Given the description of an element on the screen output the (x, y) to click on. 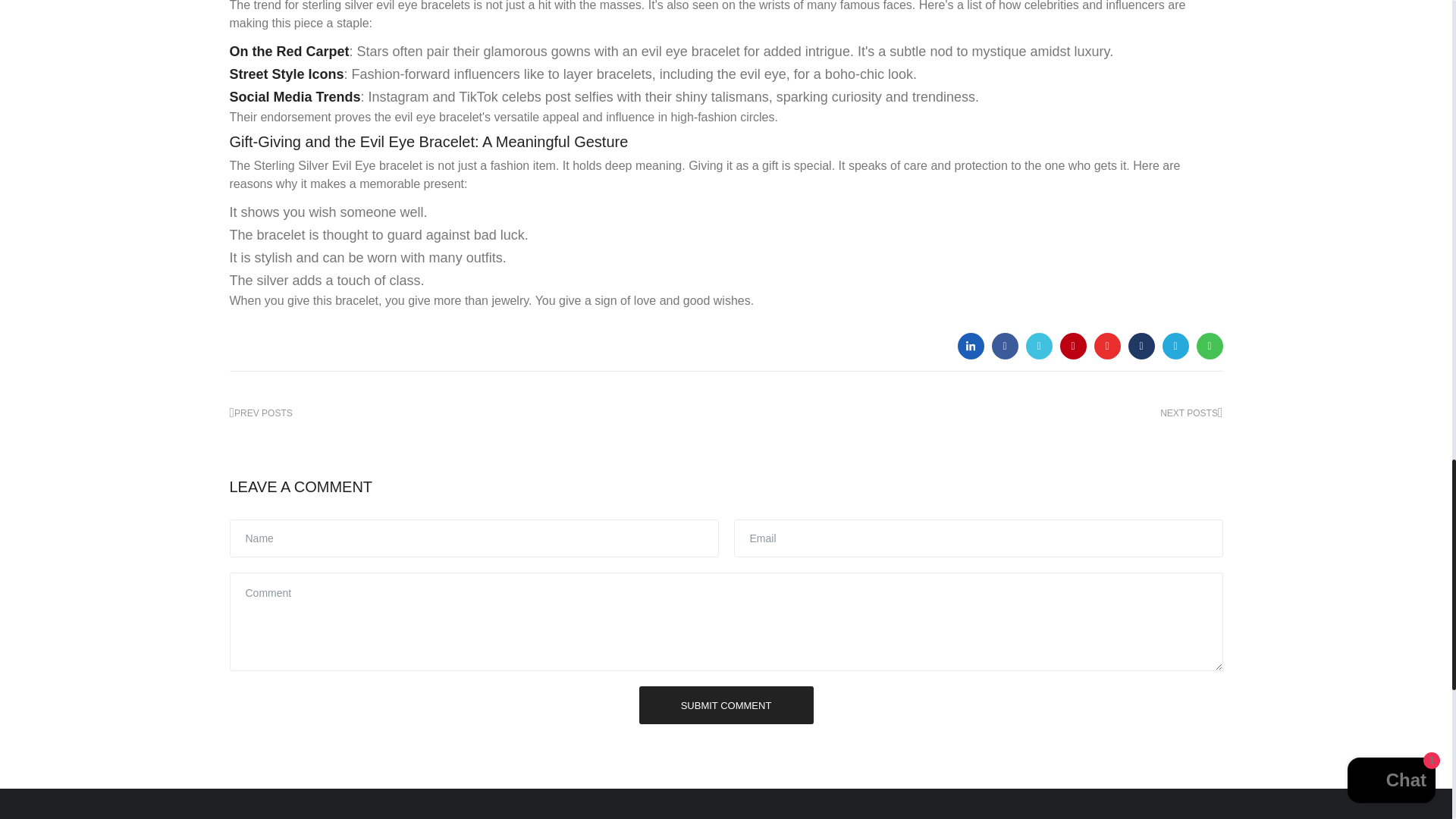
Share on whatsapp (1209, 345)
Share on Facebook (1004, 345)
Share on email (1072, 345)
Share on twitter (1038, 345)
Share on tumblr (1141, 345)
Share on linkedin (970, 345)
Share on telegram (1174, 345)
Share on pinterest (1106, 345)
